Given the description of an element on the screen output the (x, y) to click on. 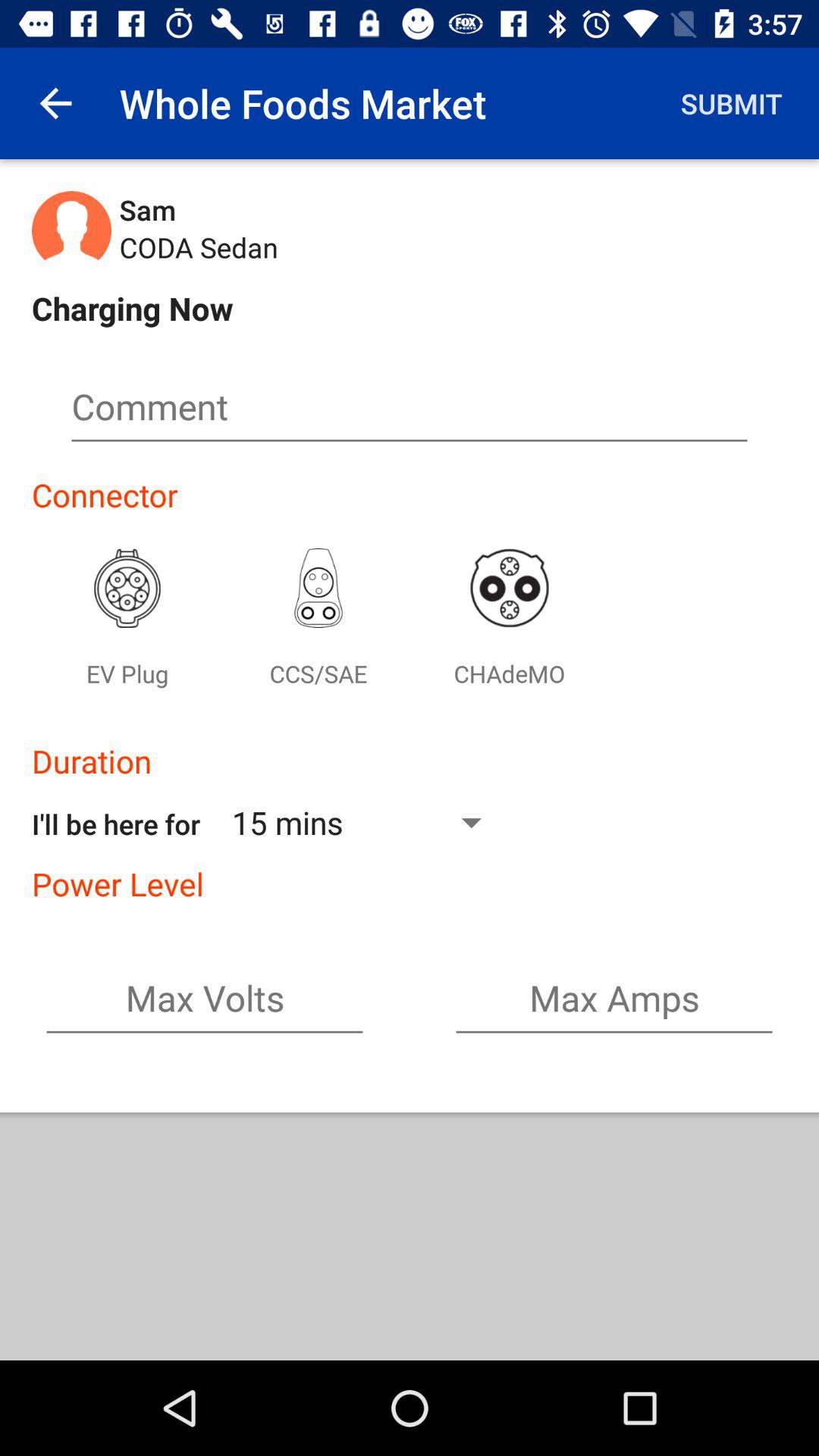
comment box (409, 412)
